Given the description of an element on the screen output the (x, y) to click on. 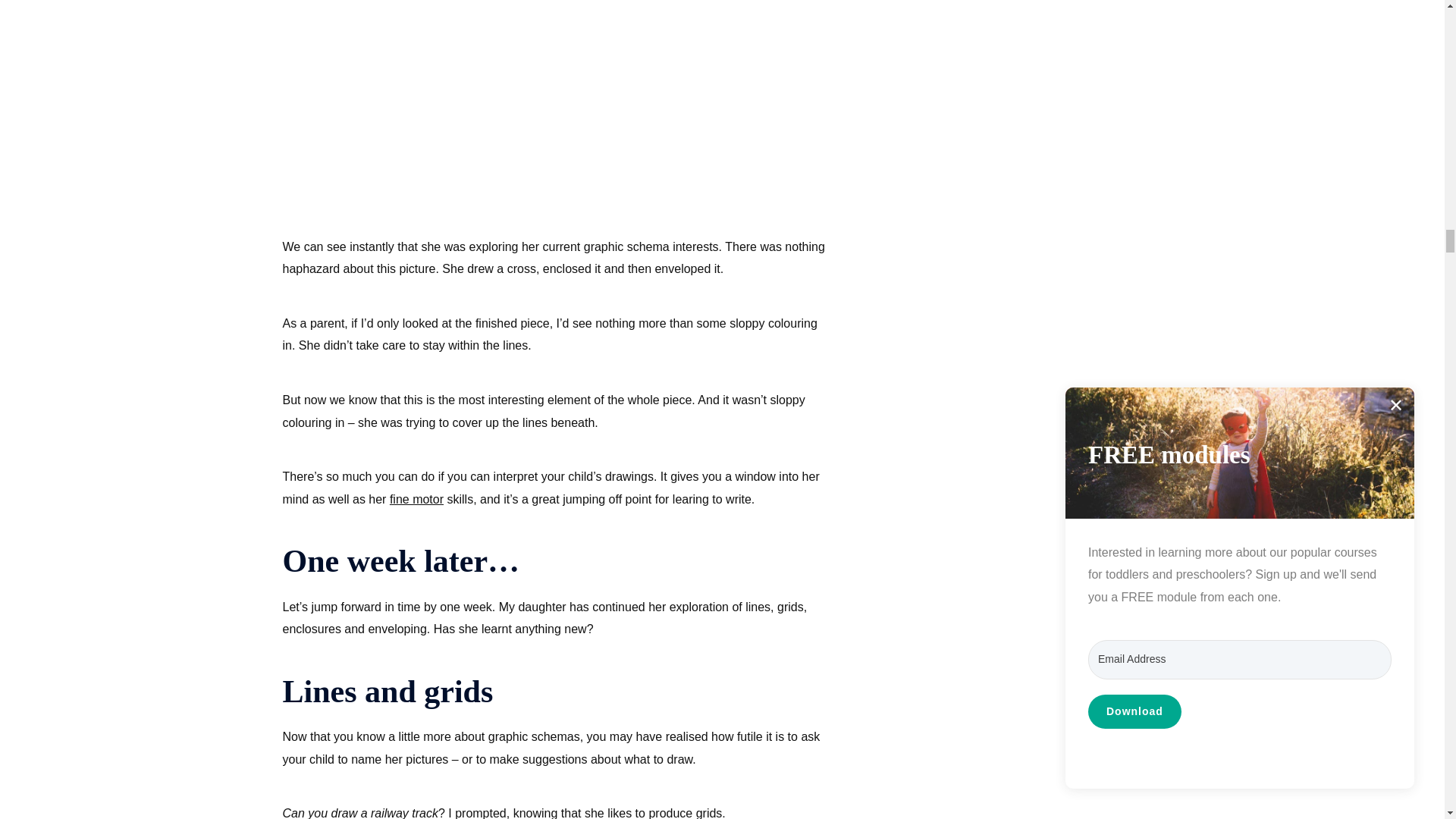
fine motor (417, 499)
